Given the description of an element on the screen output the (x, y) to click on. 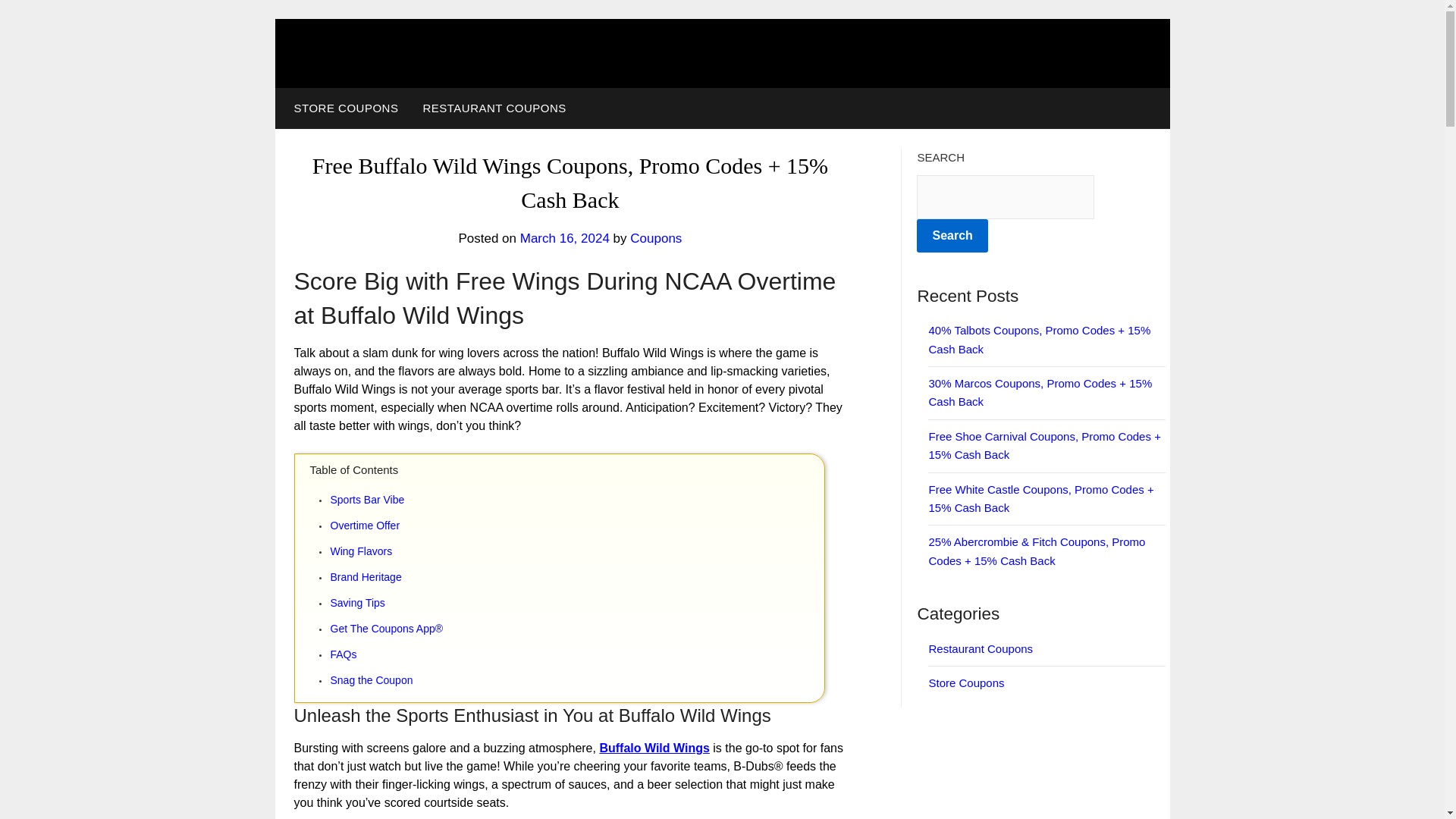
Overtime Offer (576, 525)
Brand Heritage (576, 577)
Sports Bar Vibe (576, 499)
Wing Flavors (576, 550)
March 16, 2024 (564, 237)
Buffalo Wild Wings (653, 748)
STORE COUPONS (342, 107)
RESTAURANT COUPONS (494, 107)
Saving Tips (576, 602)
Snag the Coupon (576, 680)
